Given the description of an element on the screen output the (x, y) to click on. 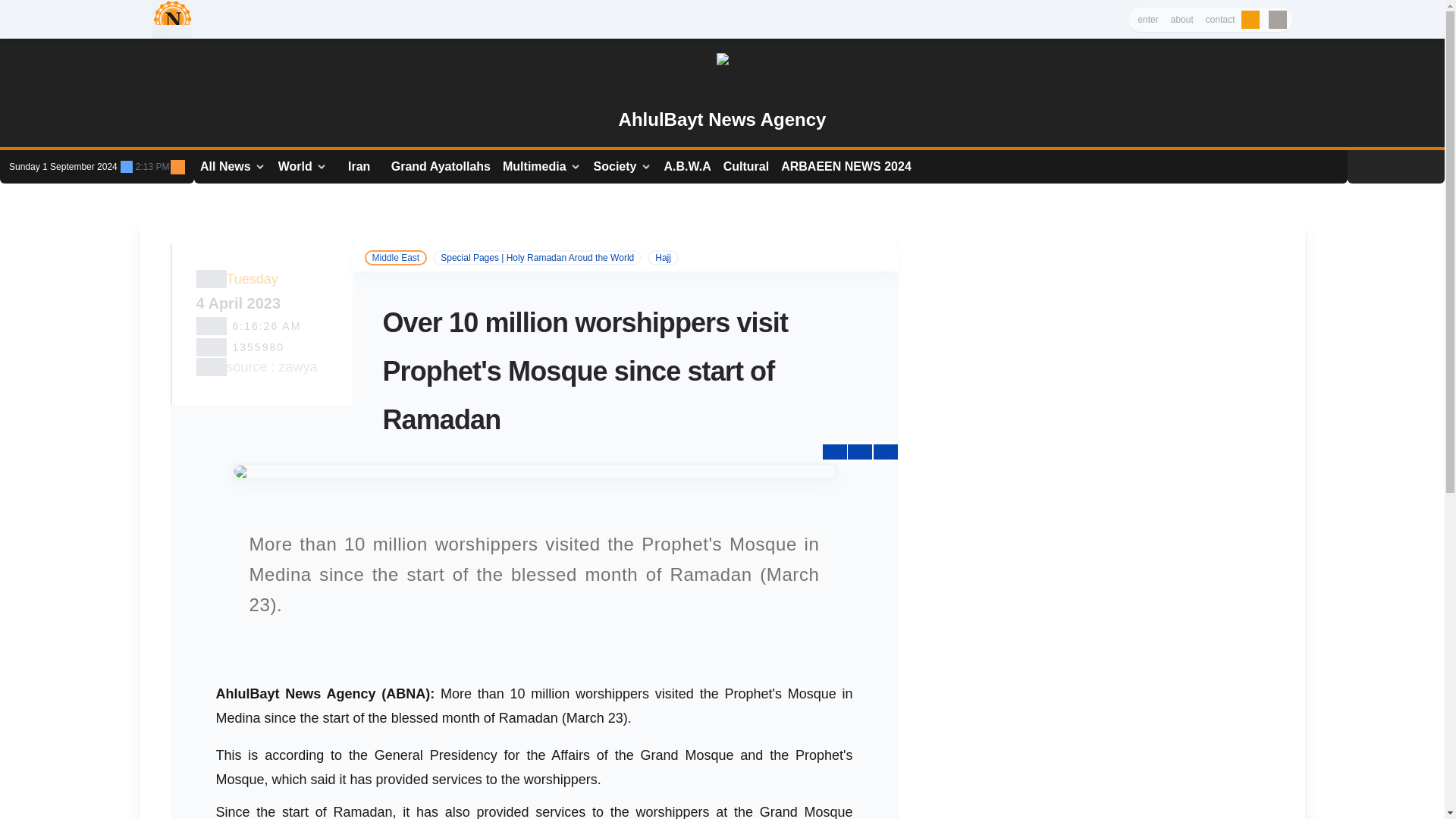
Society (623, 166)
All News (232, 166)
Cultural (745, 166)
World (302, 166)
Grand Ayatollahs (440, 166)
about (1181, 19)
ARBAEEN NEWS 2024 (845, 167)
Cultural (745, 167)
Artistic (674, 188)
520 (263, 325)
